Given the description of an element on the screen output the (x, y) to click on. 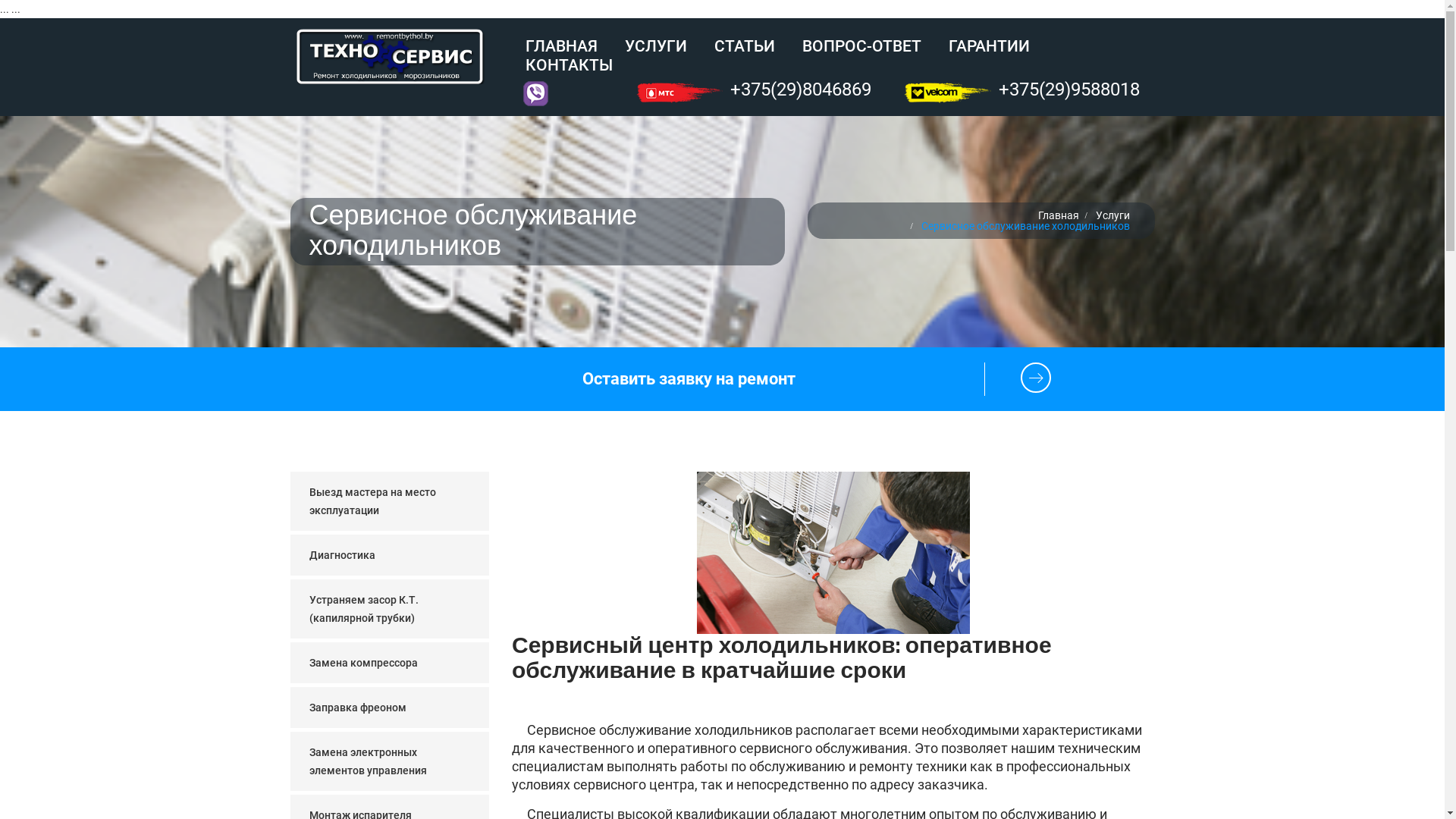
+375(29)8046869 Element type: text (800, 85)
+375(29)9588018 Element type: text (1068, 85)
